Given the description of an element on the screen output the (x, y) to click on. 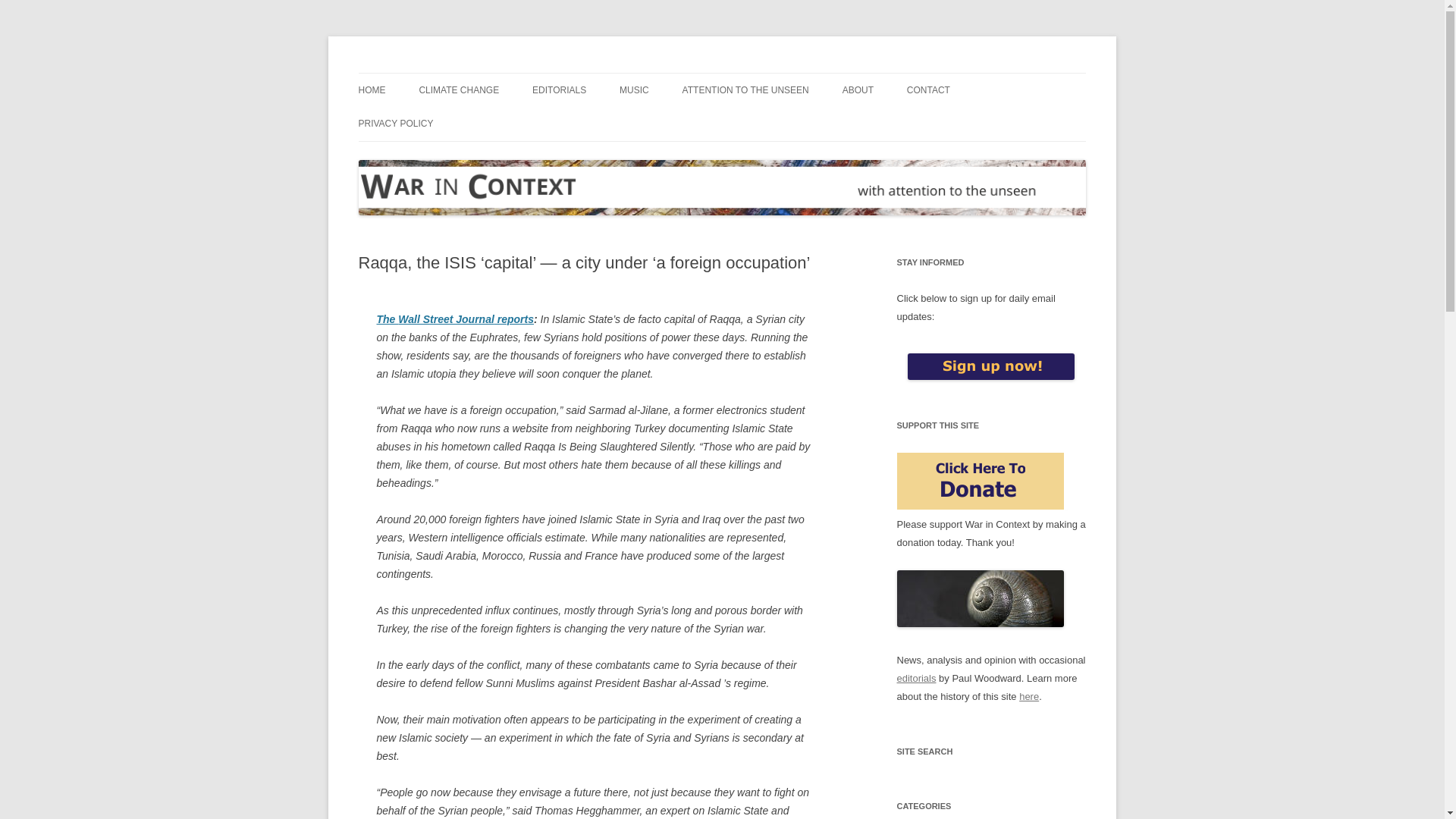
The Wall Street Journal reports (453, 318)
here (1029, 696)
ABOUT (858, 90)
EDITORIALS (559, 90)
PRIVACY POLICY (395, 123)
CONTACT (928, 90)
War in Context (427, 72)
ATTENTION TO THE UNSEEN (745, 90)
editorials (916, 677)
